Given the description of an element on the screen output the (x, y) to click on. 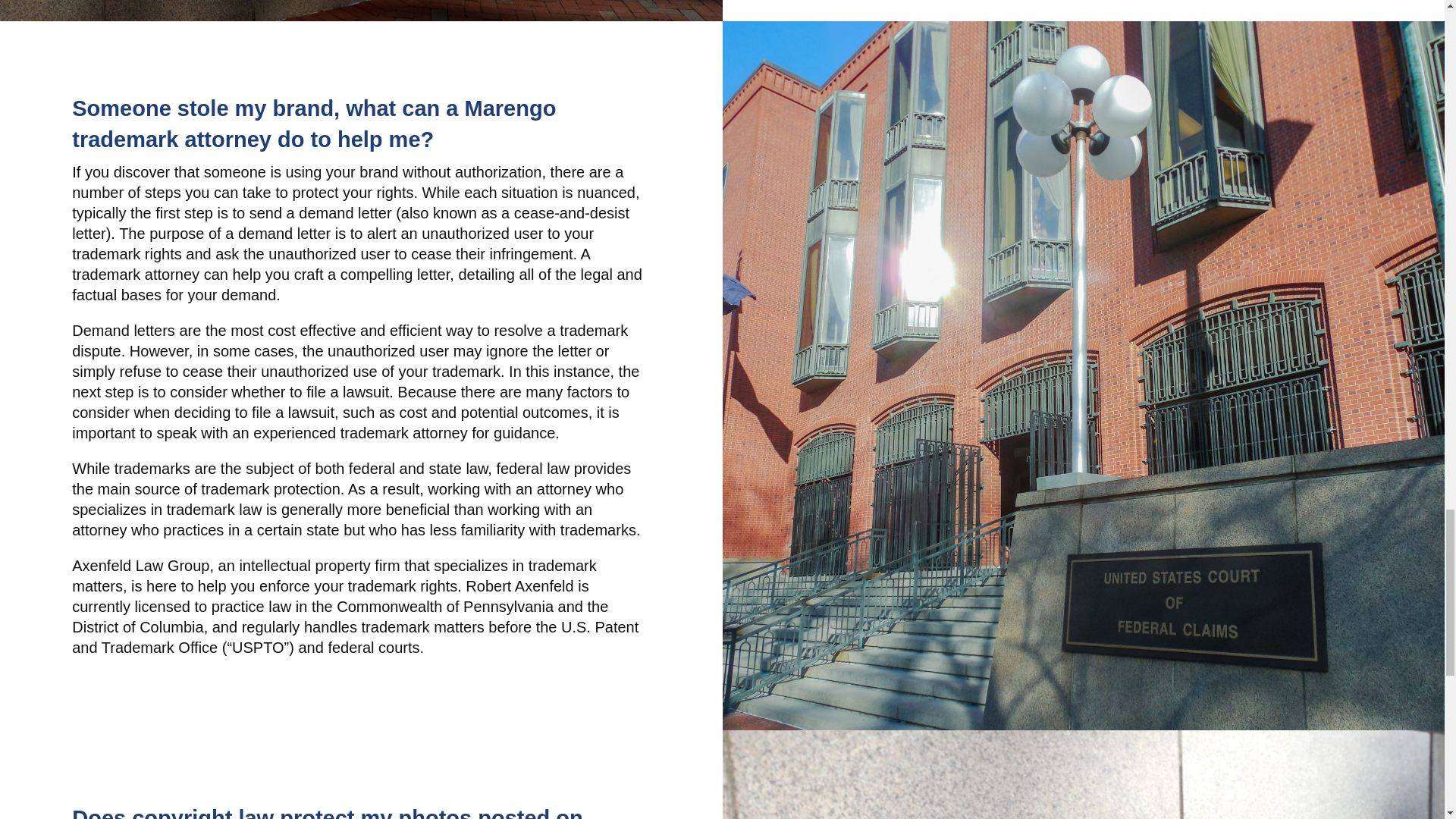
Marengo Copyright Infringement (361, 10)
